Given the description of an element on the screen output the (x, y) to click on. 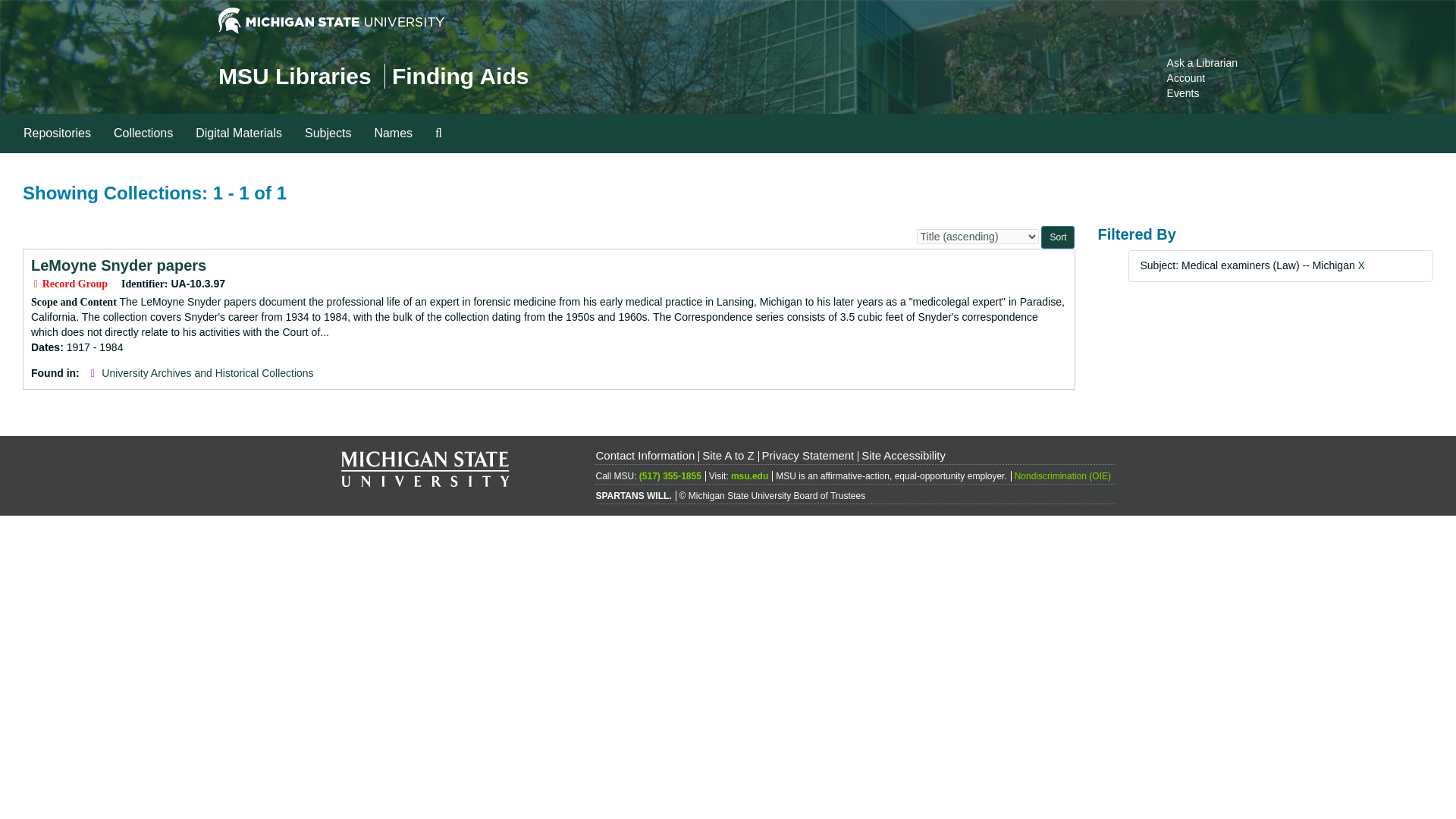
Privacy Statement (807, 454)
Repositories (56, 133)
Names (392, 133)
Contact Information (644, 454)
Account (1186, 78)
Subjects (328, 133)
University Archives and Historical Collections (207, 372)
Events (1183, 92)
MSU Libraries (294, 75)
LeMoyne Snyder papers (118, 265)
Collections (142, 133)
Sort (1057, 237)
Sort (1057, 237)
Finding Aids (460, 75)
msu.edu (749, 475)
